Given the description of an element on the screen output the (x, y) to click on. 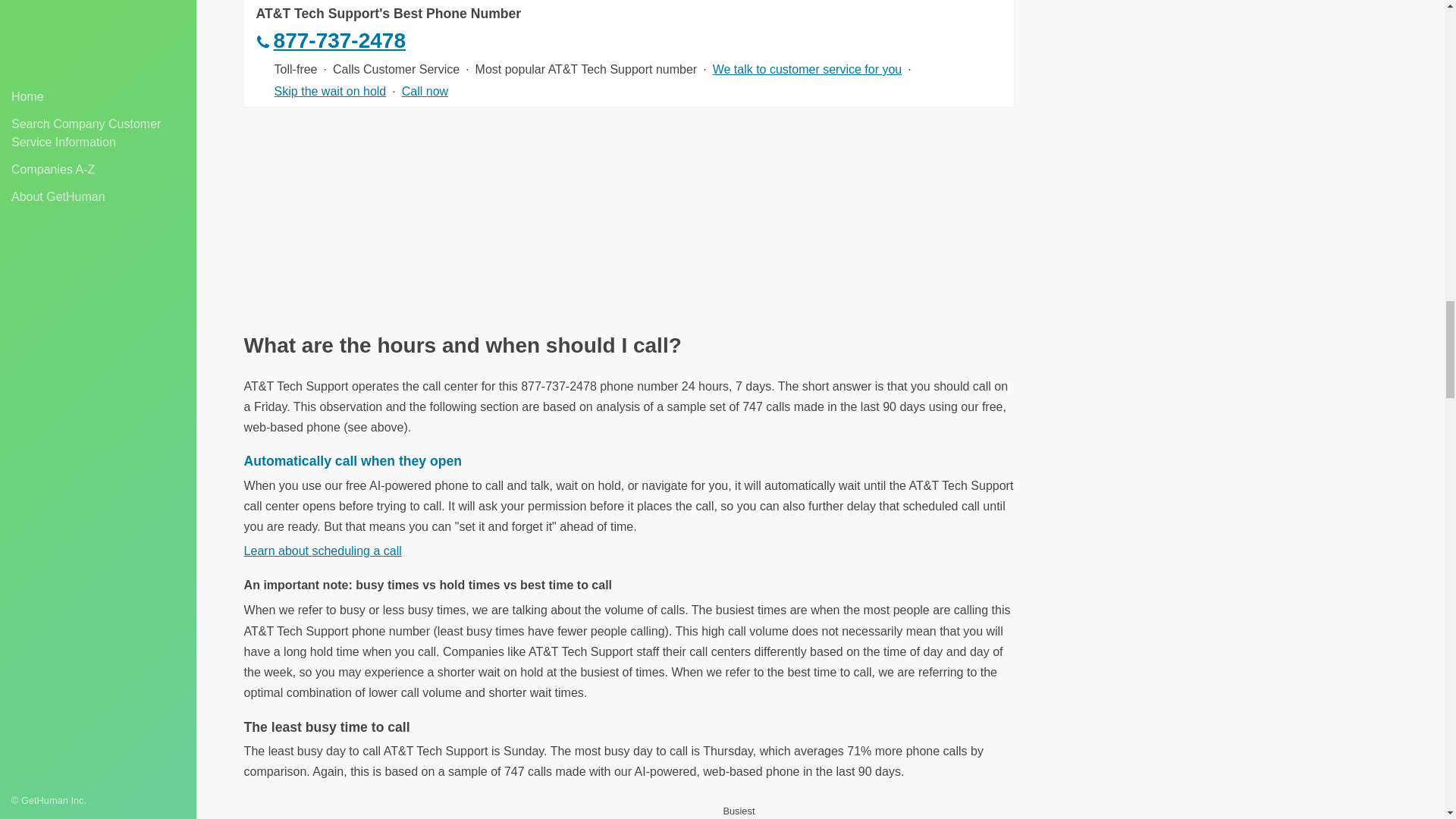
Thursday is the busiest day (738, 810)
Learn about scheduling a call (322, 550)
Automatically call when they open (352, 460)
